Given the description of an element on the screen output the (x, y) to click on. 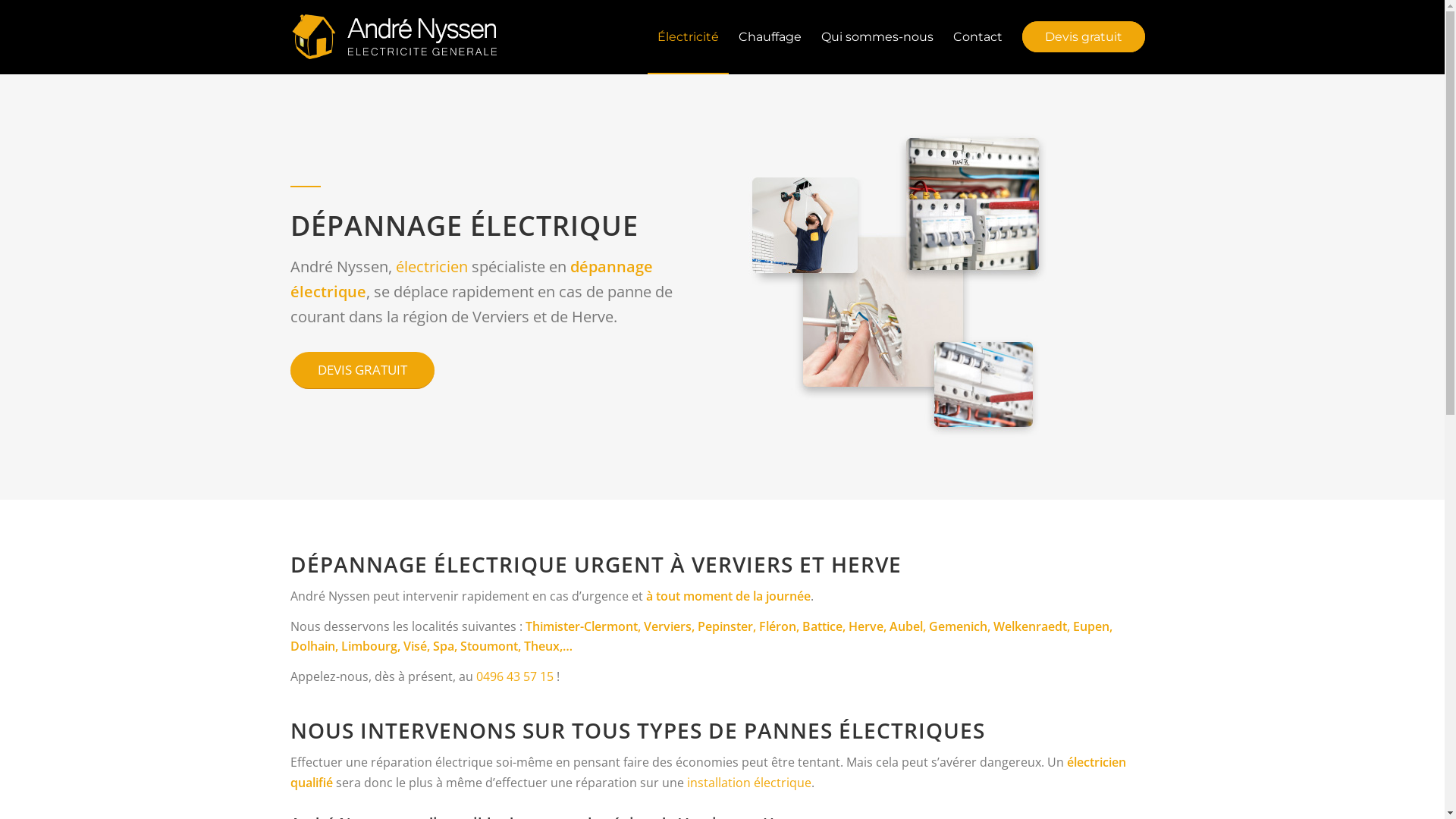
Devis gratuit Element type: text (1082, 36)
Contact Element type: text (977, 36)
DEVIS GRATUIT Element type: text (361, 370)
Chauffage Element type: text (769, 36)
Qui sommes-nous Element type: text (877, 36)
0496 43 57 15 Element type: text (514, 676)
